Given the description of an element on the screen output the (x, y) to click on. 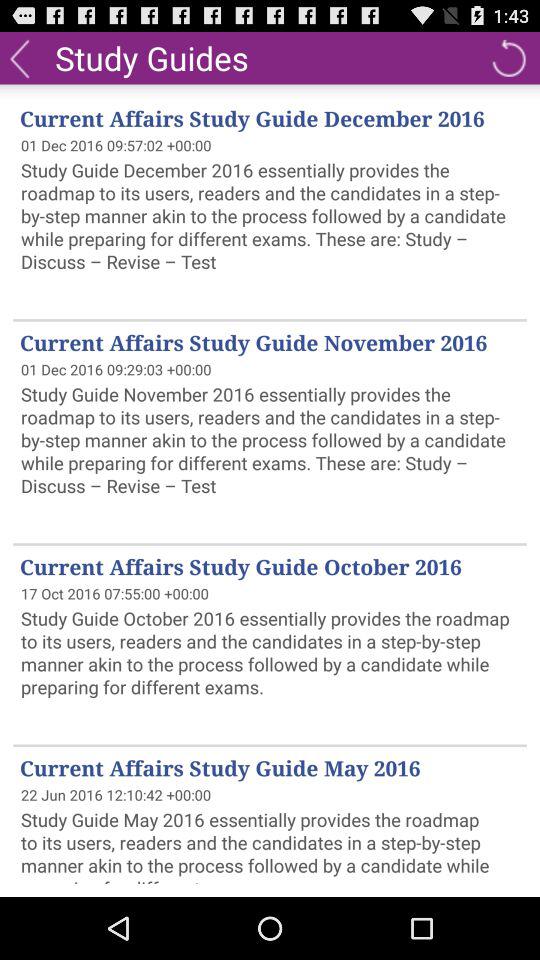
refresh (508, 57)
